Given the description of an element on the screen output the (x, y) to click on. 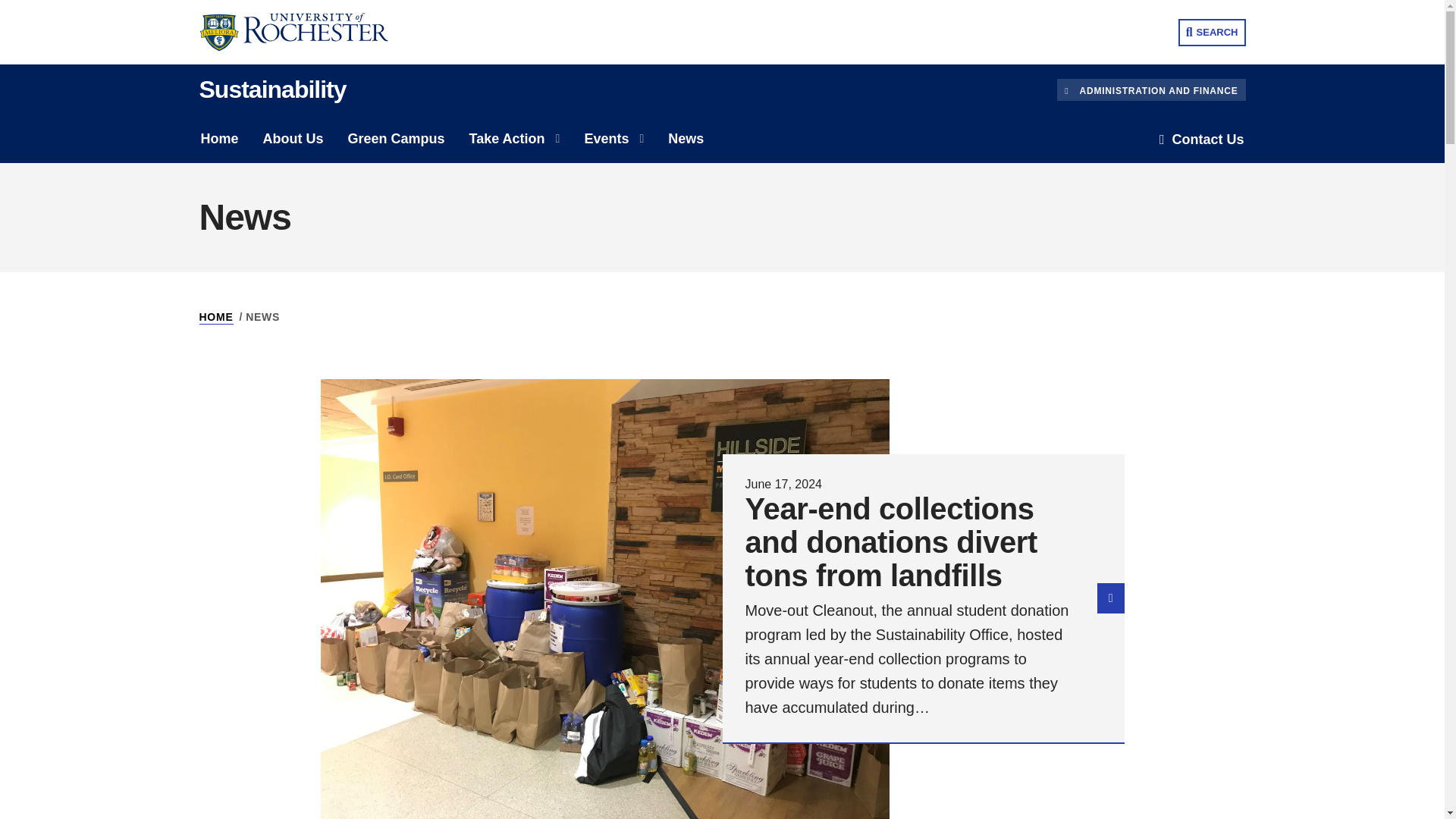
Sustainability (272, 89)
About Us (293, 138)
Take Action (502, 138)
SEARCH (1211, 31)
Green Campus (396, 138)
Home (218, 138)
University of Rochester Homepage (304, 32)
Contact Us (1201, 139)
HOME (215, 317)
Events (601, 138)
ADMINISTRATION AND FINANCE (1150, 89)
News (686, 138)
